Given the description of an element on the screen output the (x, y) to click on. 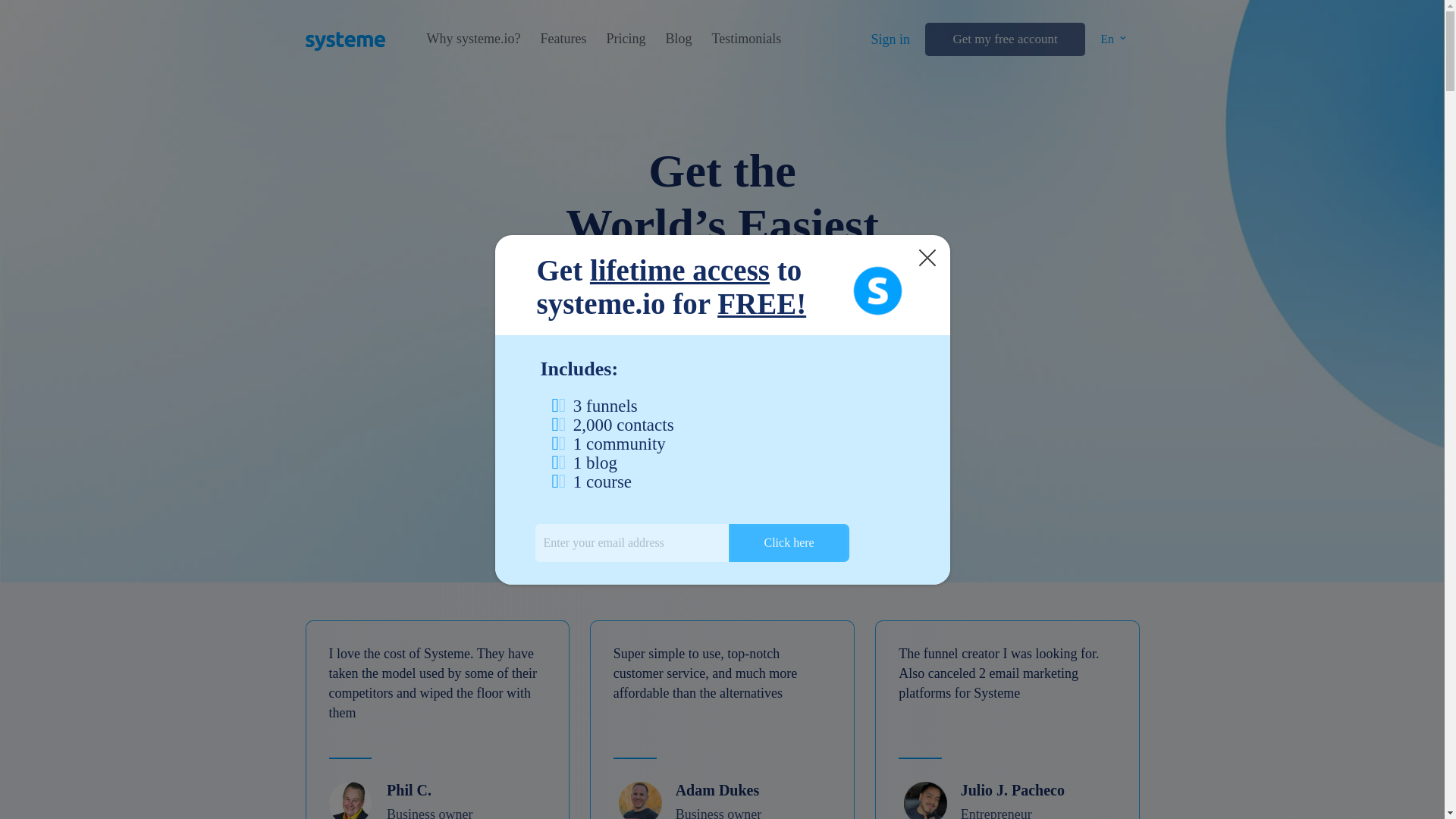
Testimonials (745, 38)
Sign in (890, 39)
Pricing (625, 38)
Why systeme.io? (472, 38)
Features (563, 38)
Blog (678, 38)
Get my free account (1004, 39)
